Given the description of an element on the screen output the (x, y) to click on. 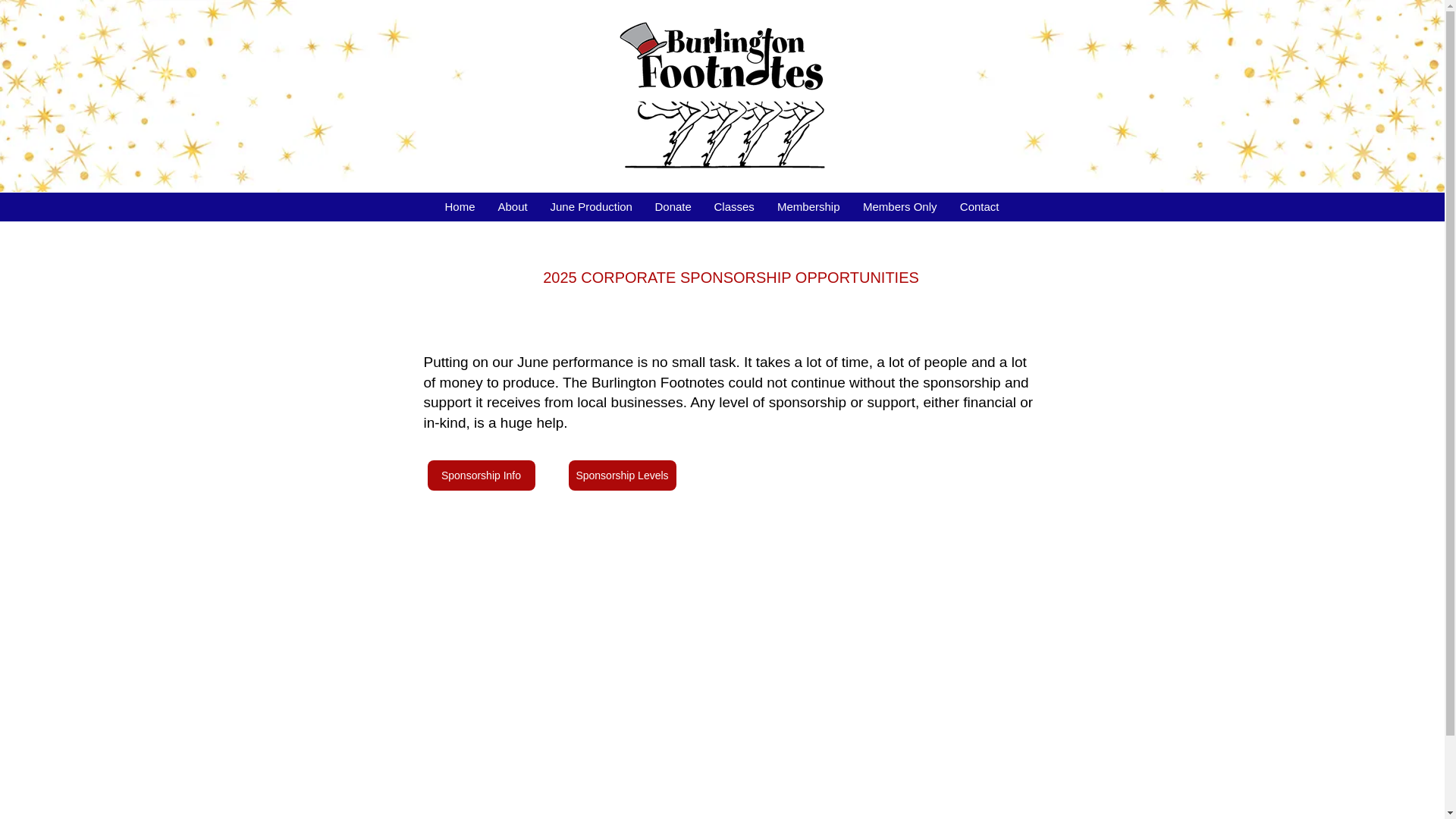
Members Only (898, 206)
Contact (978, 206)
June Production (590, 206)
About (512, 206)
Membership (808, 206)
Sponsorship Info (481, 475)
Home (459, 206)
Donate (672, 206)
Sponsorship Levels (623, 475)
Classes (733, 206)
